Given the description of an element on the screen output the (x, y) to click on. 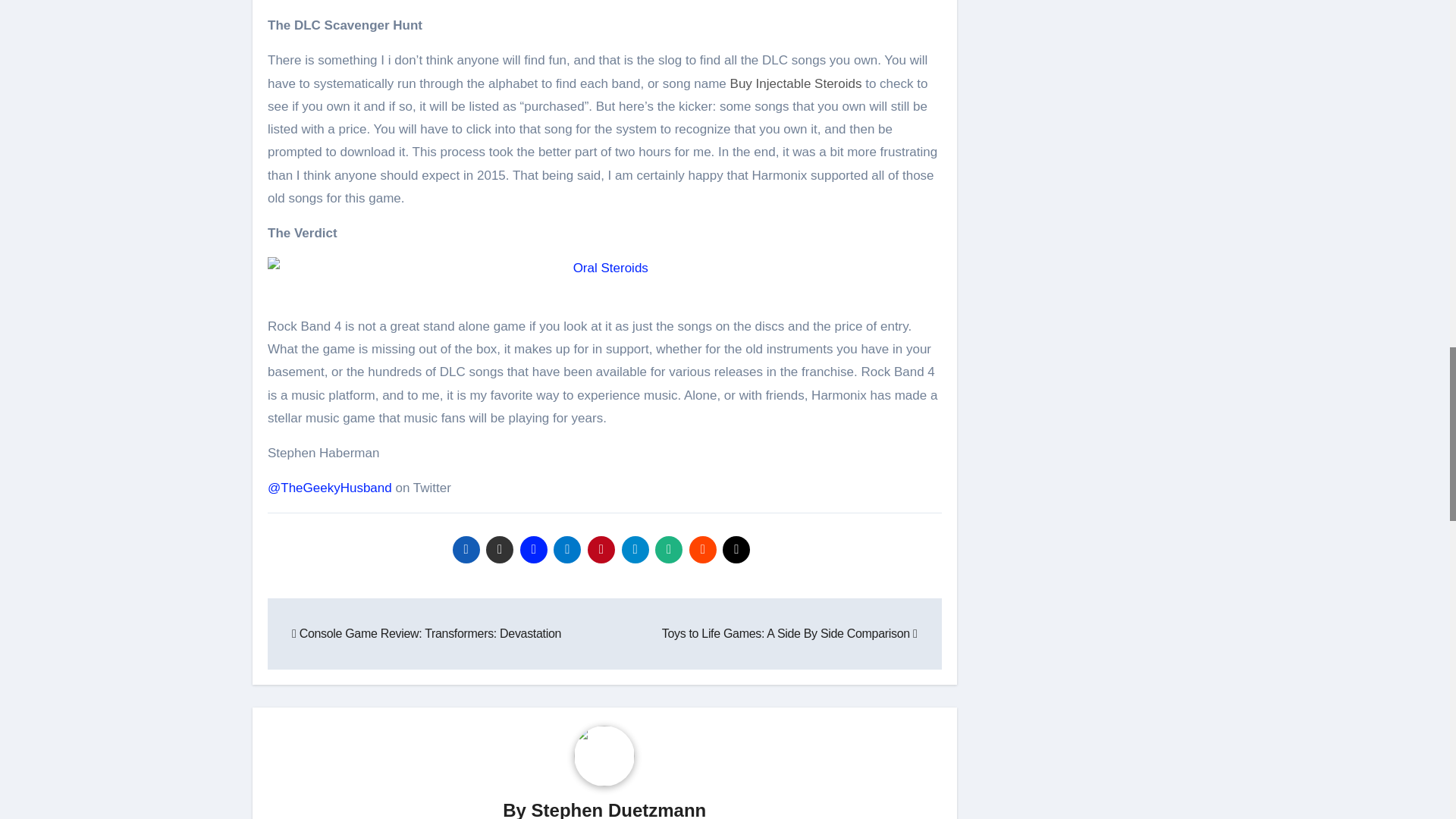
Buy Injectable Steroids (795, 83)
Buy Injectable Steroids (795, 83)
